Given the description of an element on the screen output the (x, y) to click on. 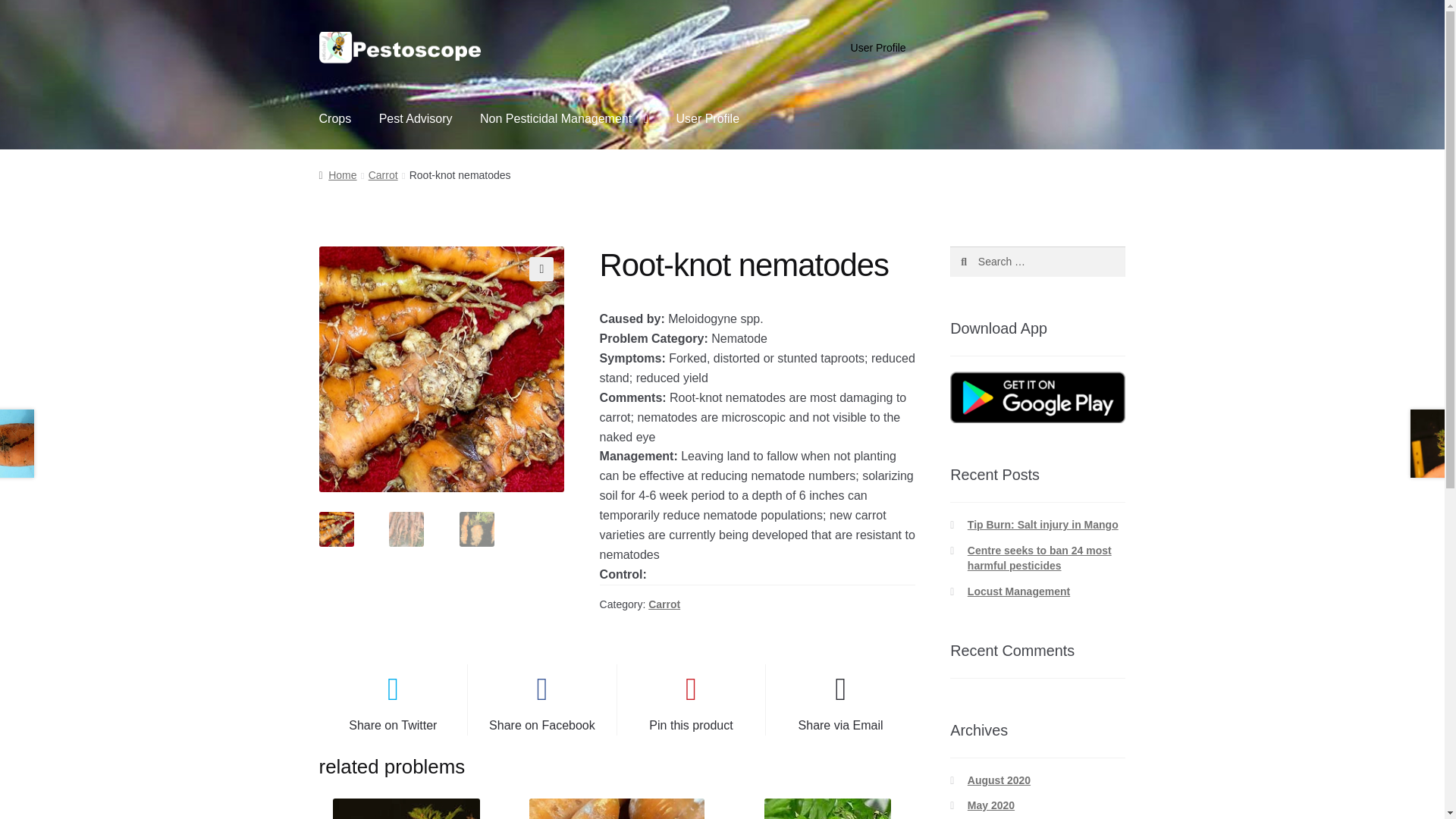
Crops (335, 119)
User Profile (707, 119)
Home (337, 174)
User Profile (878, 47)
Pest Advisory (415, 119)
Non Pesticidal Management (564, 119)
